Given the description of an element on the screen output the (x, y) to click on. 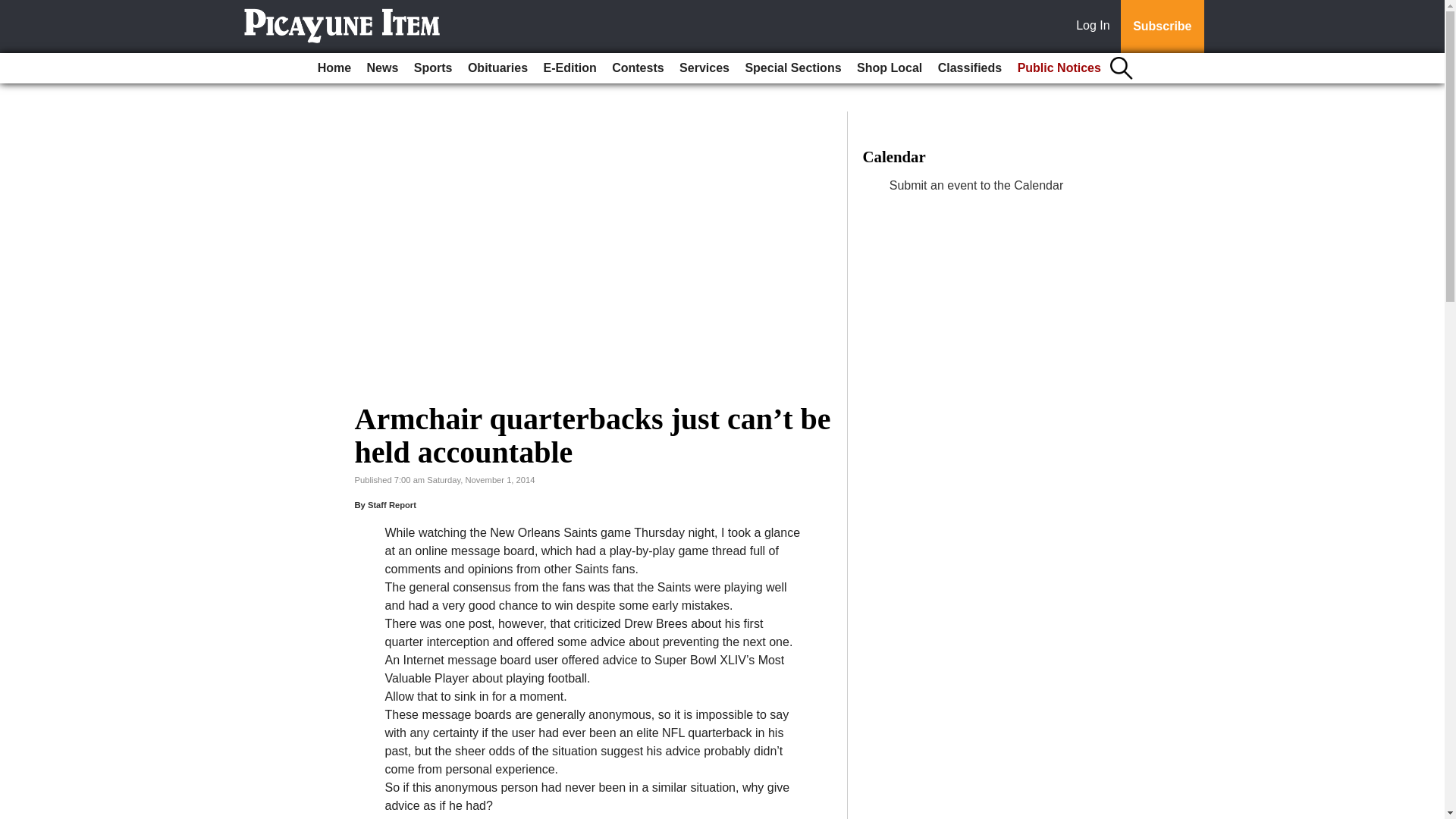
Go (13, 9)
Public Notices (1058, 68)
Log In (1095, 26)
Services (703, 68)
News (382, 68)
Submit an event to the Calendar (975, 185)
Contests (637, 68)
E-Edition (569, 68)
Sports (432, 68)
Home (333, 68)
Shop Local (889, 68)
Classifieds (969, 68)
Staff Report (392, 504)
Subscribe (1162, 26)
Obituaries (497, 68)
